Given the description of an element on the screen output the (x, y) to click on. 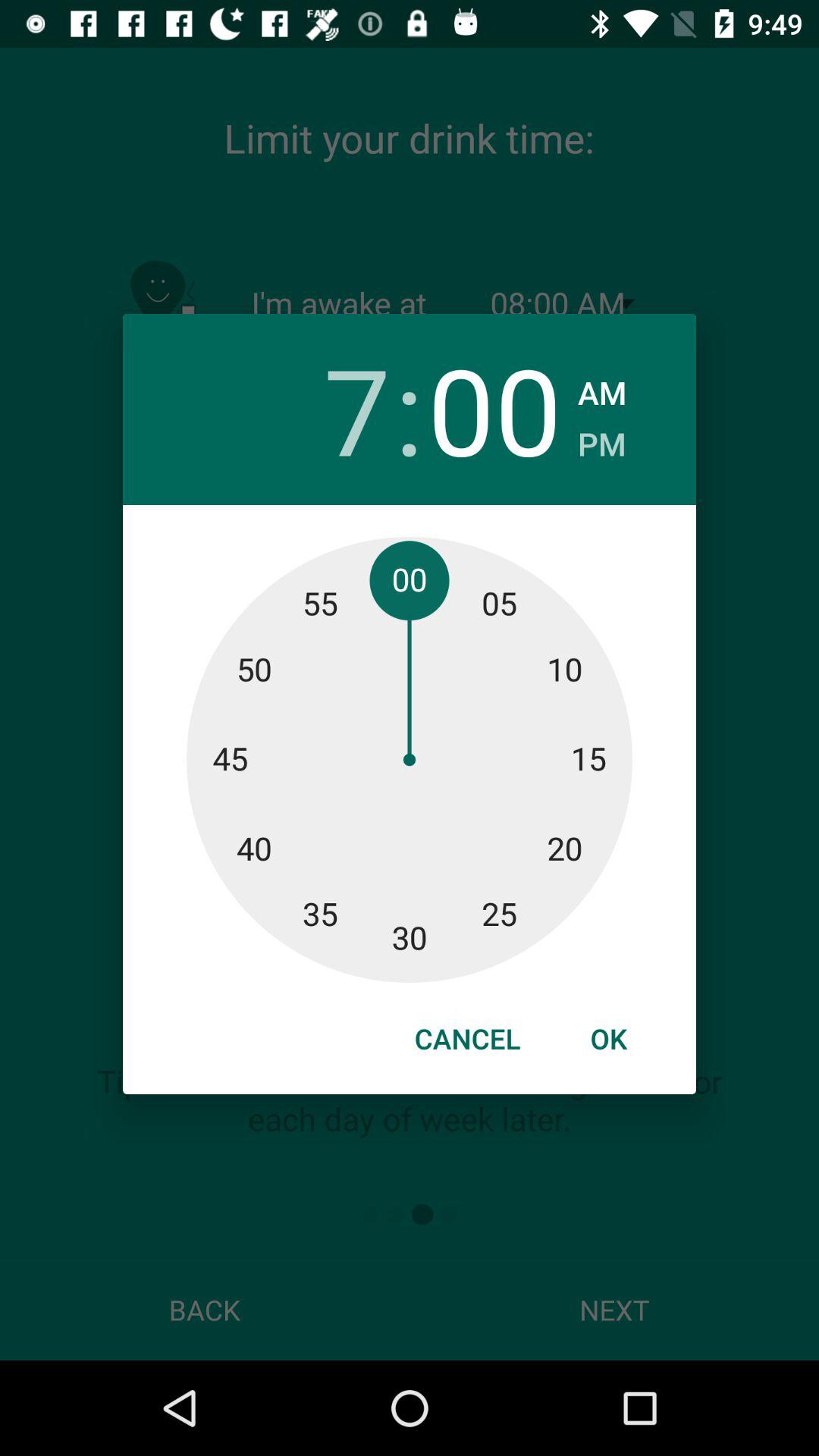
flip to the am (601, 388)
